Given the description of an element on the screen output the (x, y) to click on. 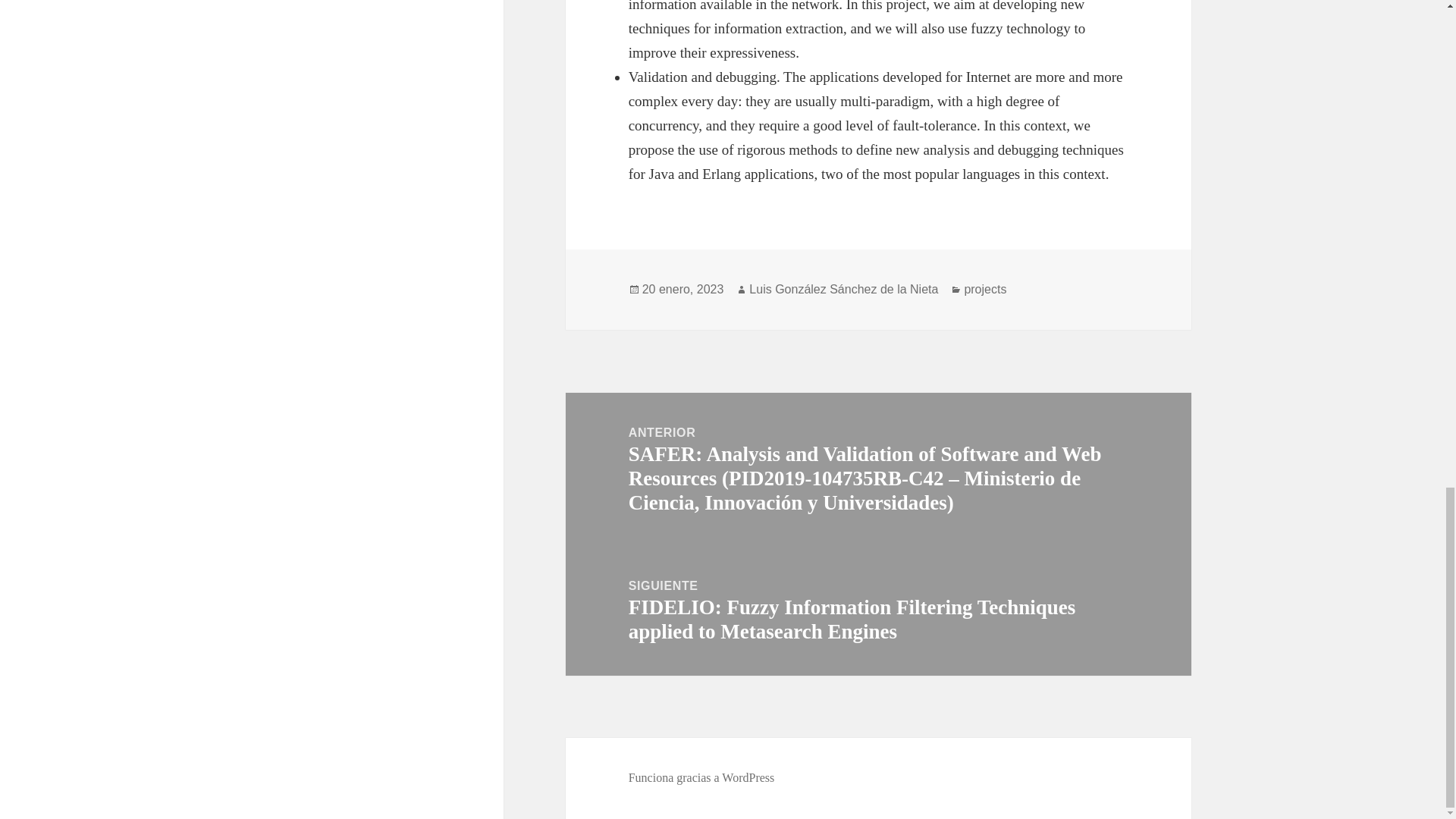
projects (984, 289)
20 enero, 2023 (682, 289)
Funciona gracias a WordPress (701, 777)
